Given the description of an element on the screen output the (x, y) to click on. 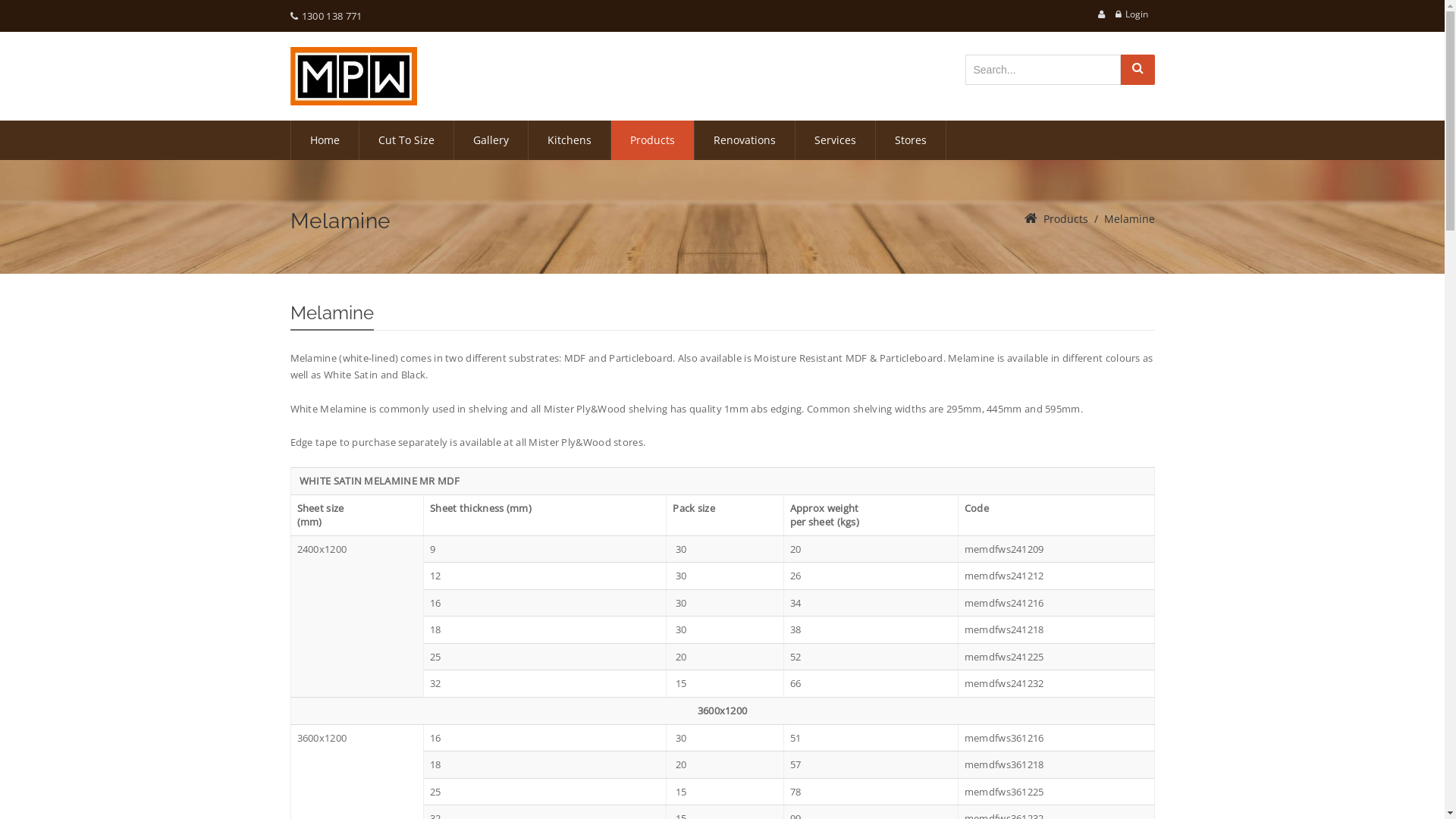
Login Element type: text (1136, 13)
Renovations Element type: text (744, 140)
Melamine Element type: text (1129, 218)
Home Element type: text (324, 140)
Kitchens Element type: text (568, 140)
Services Element type: text (834, 140)
Gallery Element type: text (490, 140)
Products Element type: text (1065, 218)
Mister Ply Wood Element type: hover (352, 76)
Search Element type: text (1137, 69)
Stores Element type: text (909, 140)
Products Element type: text (652, 140)
Cut To Size Element type: text (406, 140)
